Given the description of an element on the screen output the (x, y) to click on. 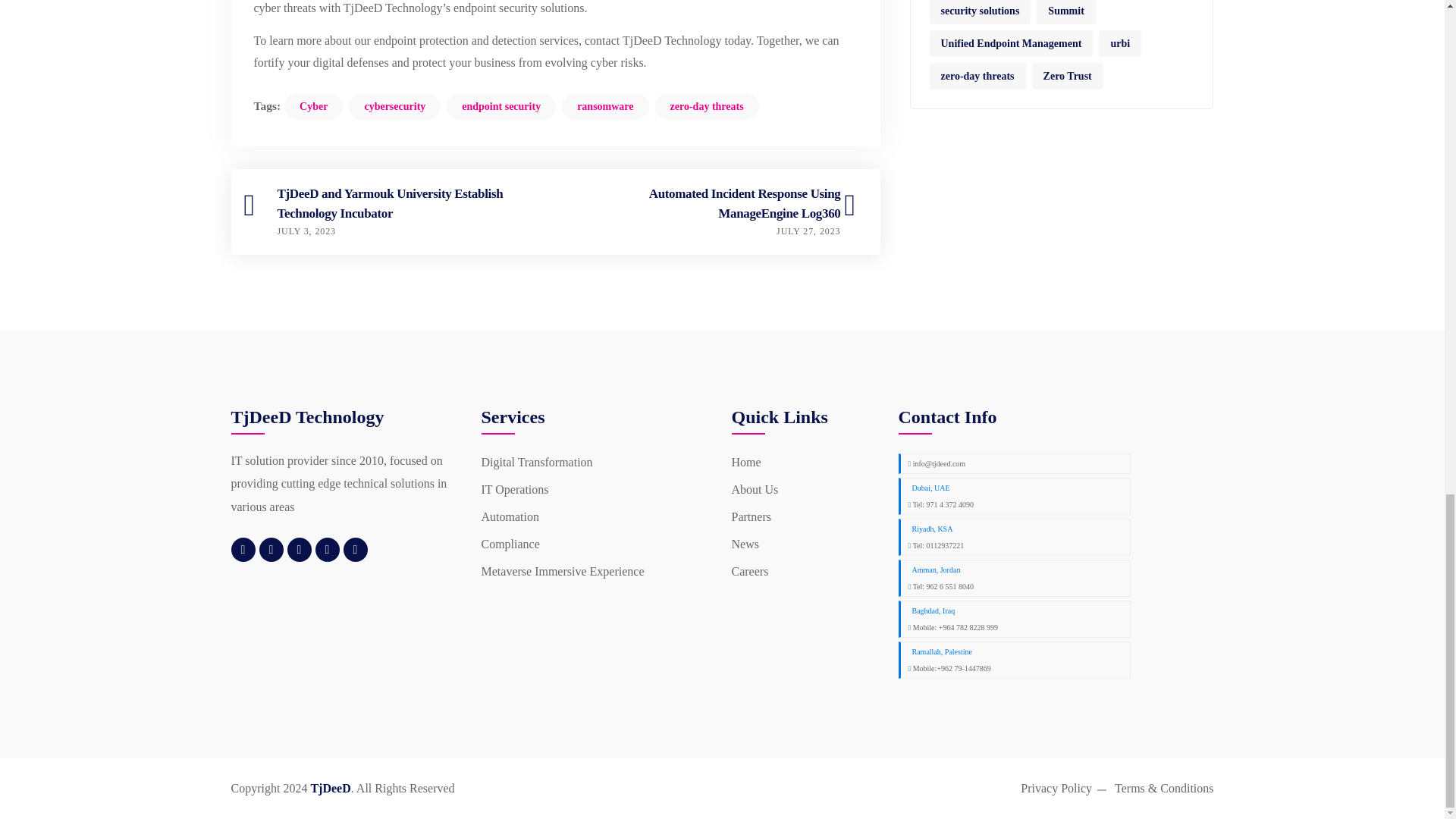
Cyber (312, 106)
cybersecurity (395, 106)
endpoint security (501, 106)
ransomware (604, 106)
zero-day threats (706, 106)
